Given the description of an element on the screen output the (x, y) to click on. 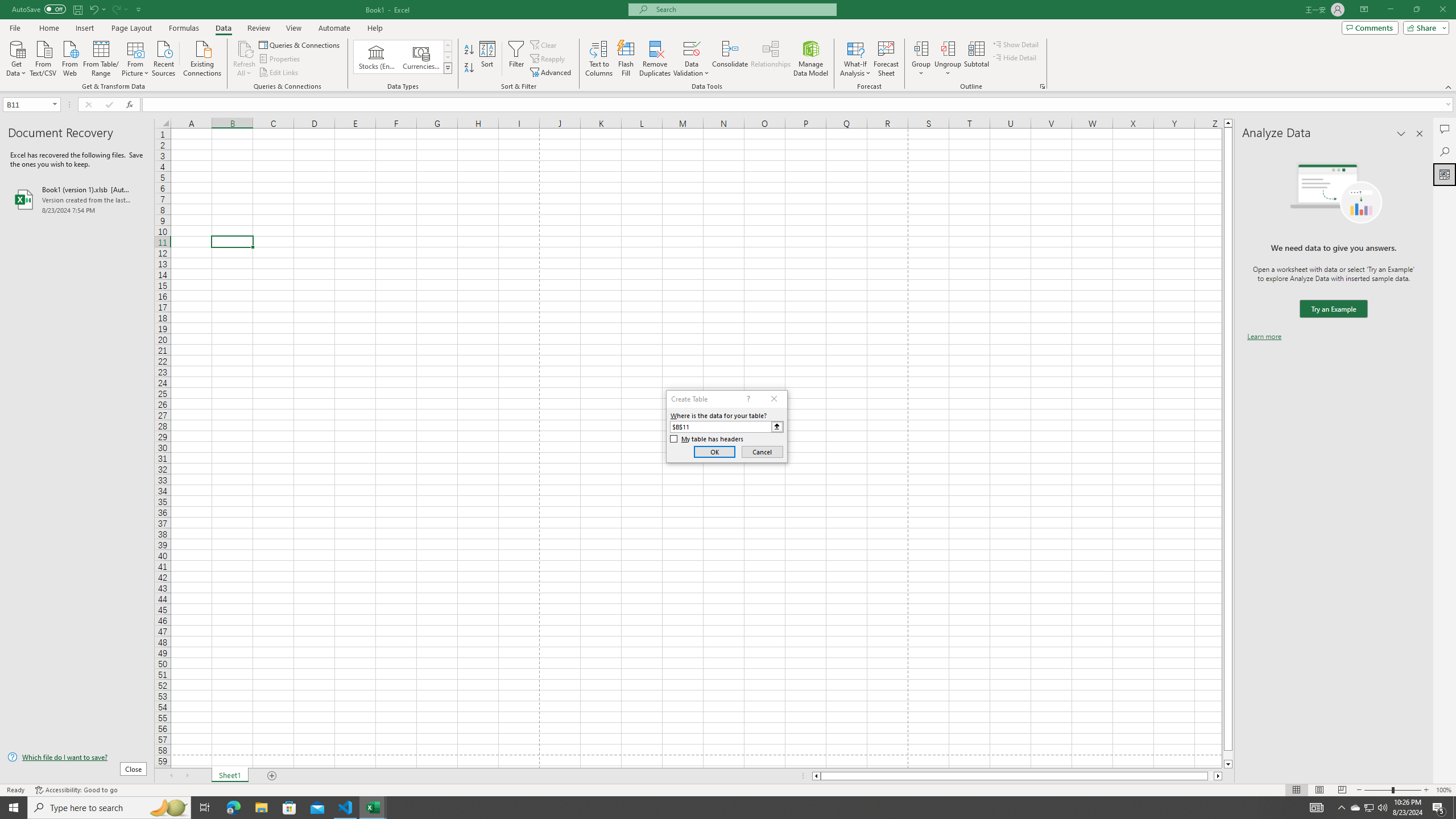
Manage Data Model (810, 58)
Sort A to Z (469, 49)
Existing Connections (202, 57)
AutomationID: ConvertToLinkedEntity (403, 56)
Get Data (16, 57)
Show Detail (1016, 44)
